Given the description of an element on the screen output the (x, y) to click on. 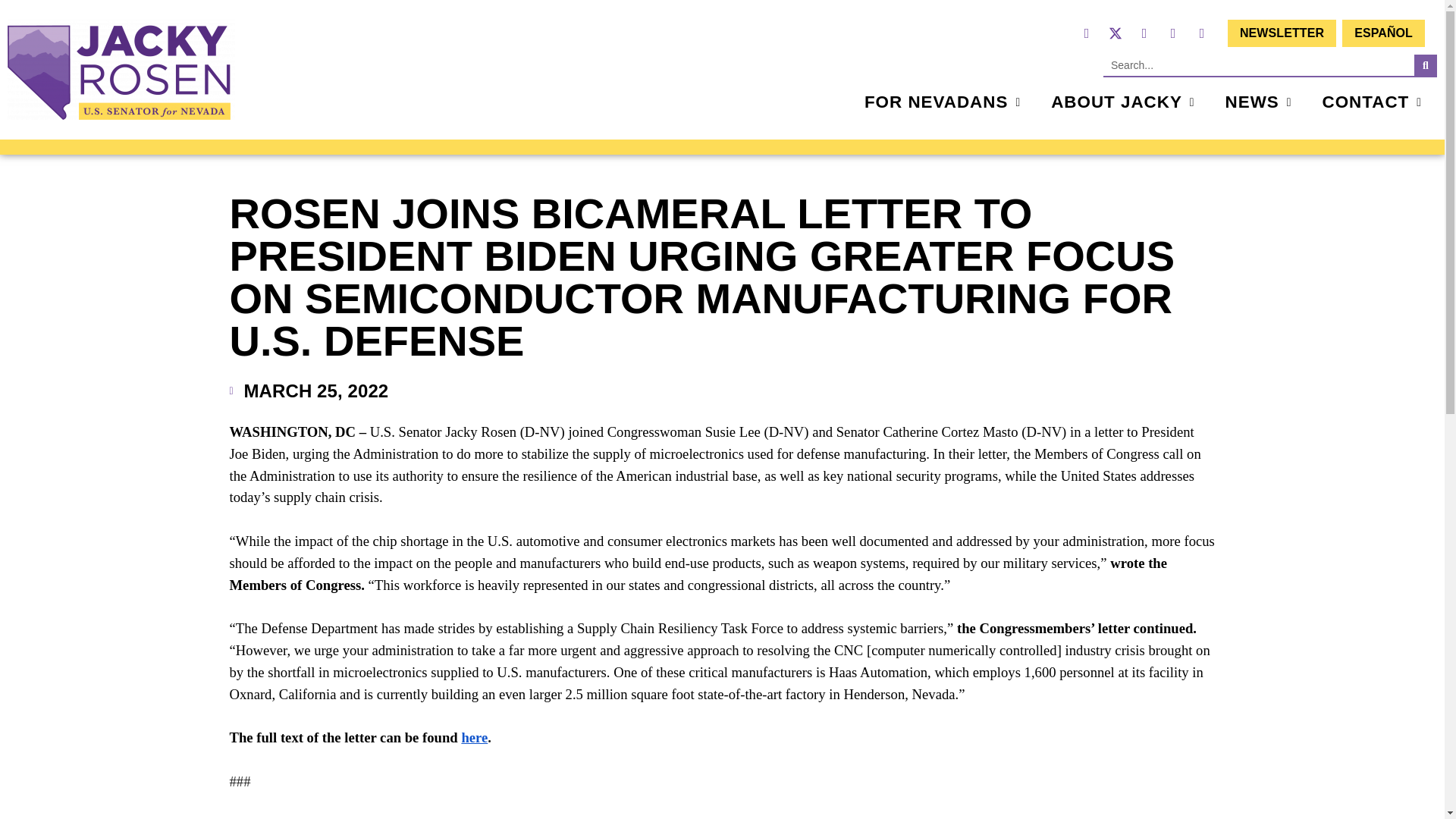
ABOUT JACKY (1122, 102)
FOR NEVADANS (941, 102)
NEWS (1258, 102)
